Given the description of an element on the screen output the (x, y) to click on. 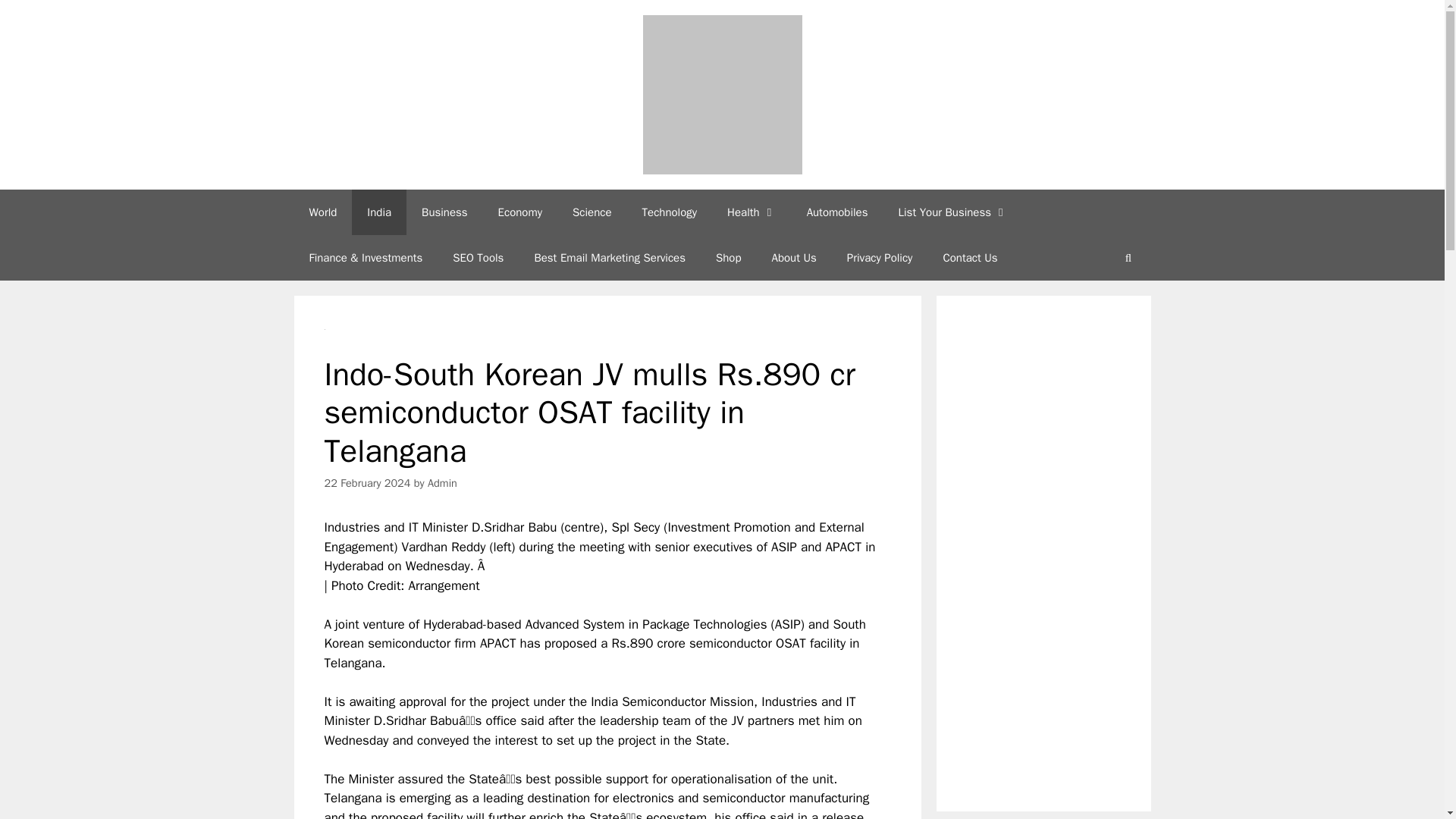
About Us (794, 257)
World (323, 212)
India (379, 212)
Economy (520, 212)
Technology (670, 212)
Science (592, 212)
SEO Tools (478, 257)
Privacy Policy (879, 257)
Admin (442, 482)
